Given the description of an element on the screen output the (x, y) to click on. 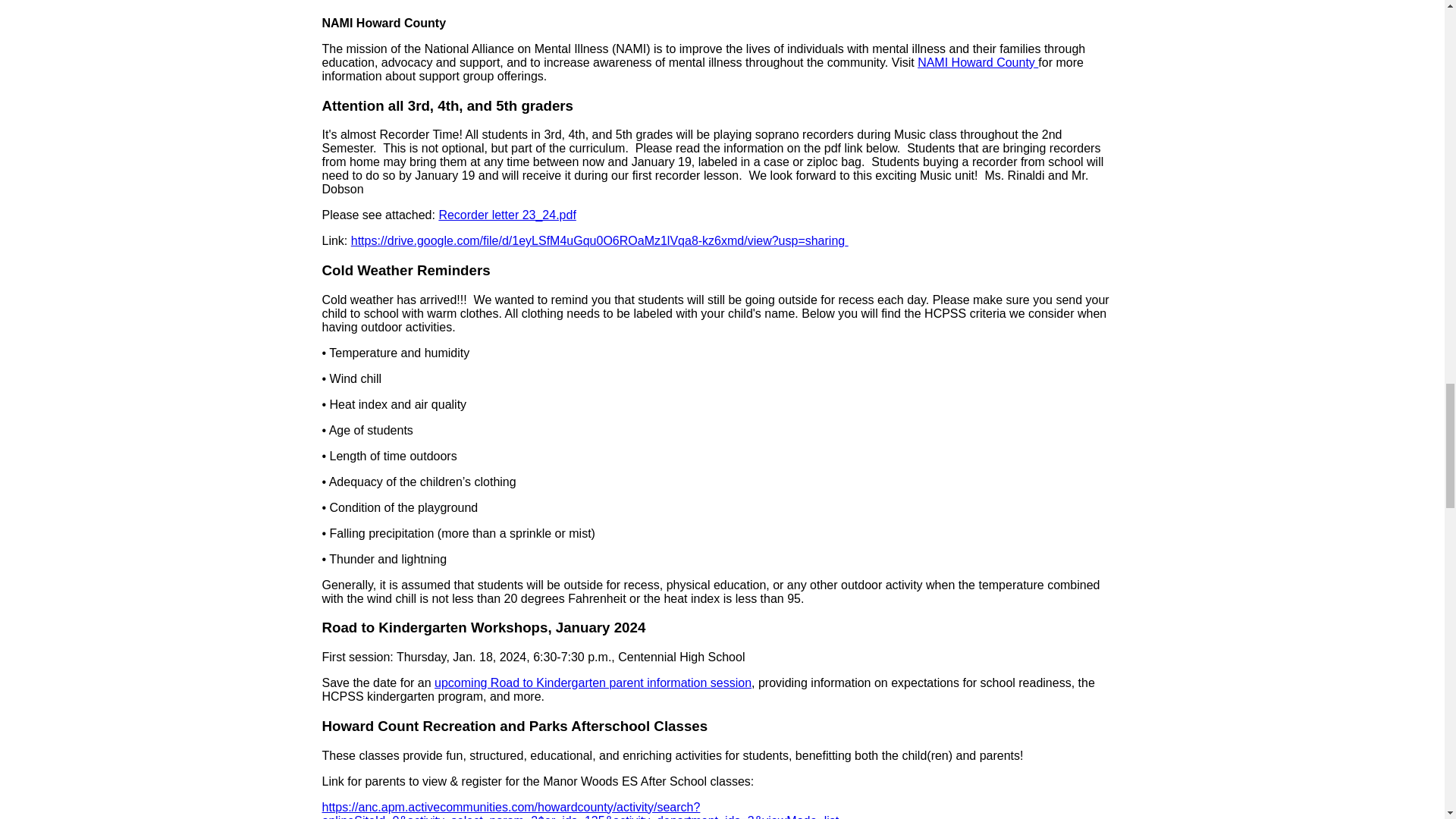
NAMI Howard County (976, 62)
upcoming Road to Kindergarten parent information session (592, 682)
